Given the description of an element on the screen output the (x, y) to click on. 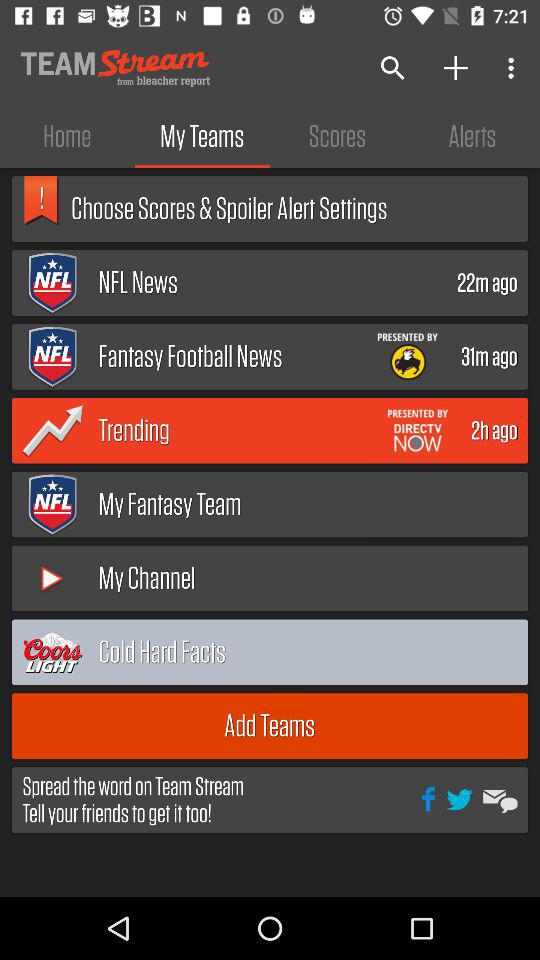
go to directv now (417, 430)
